Given the description of an element on the screen output the (x, y) to click on. 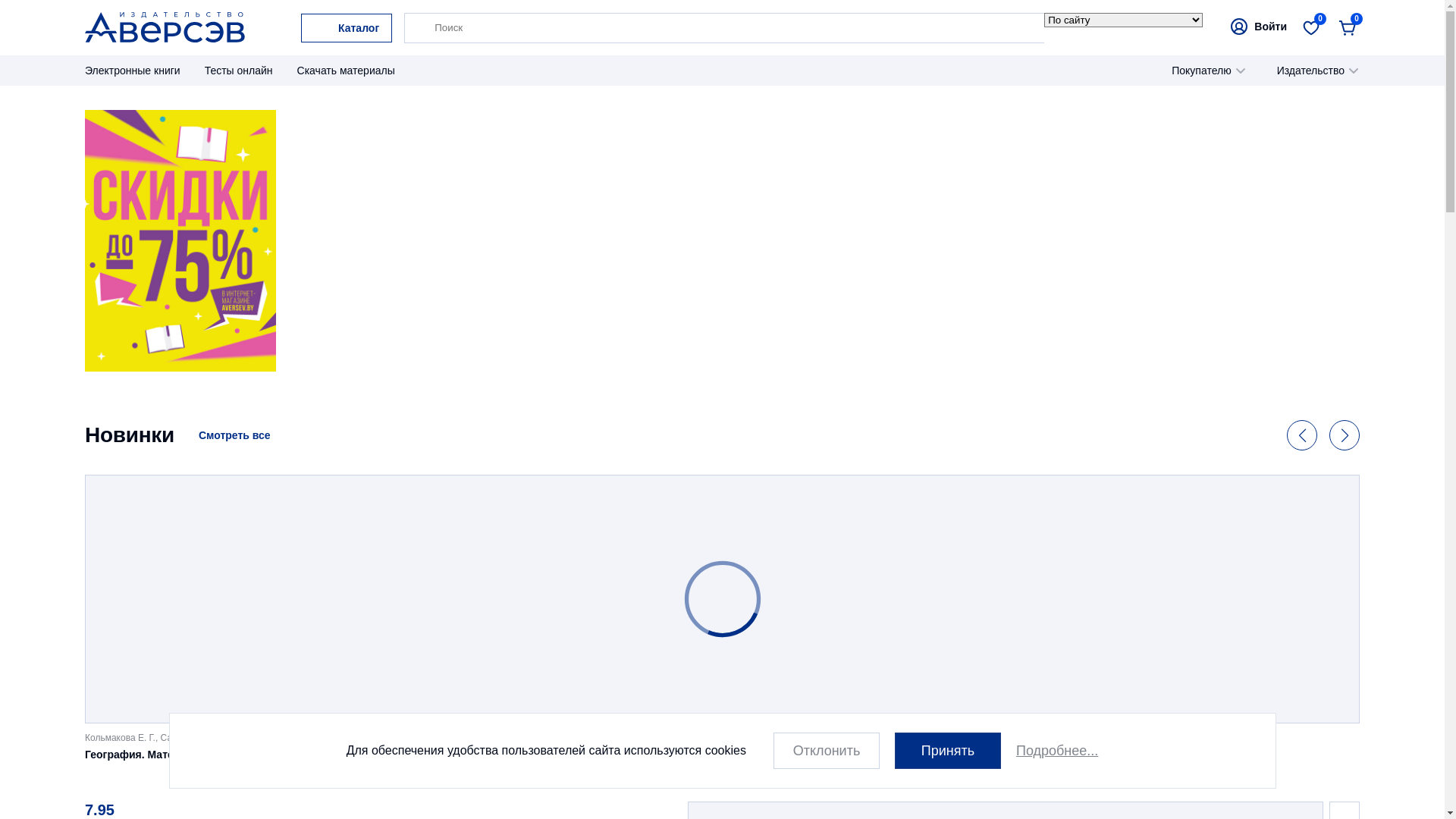
0 Element type: text (1311, 27)
